Given the description of an element on the screen output the (x, y) to click on. 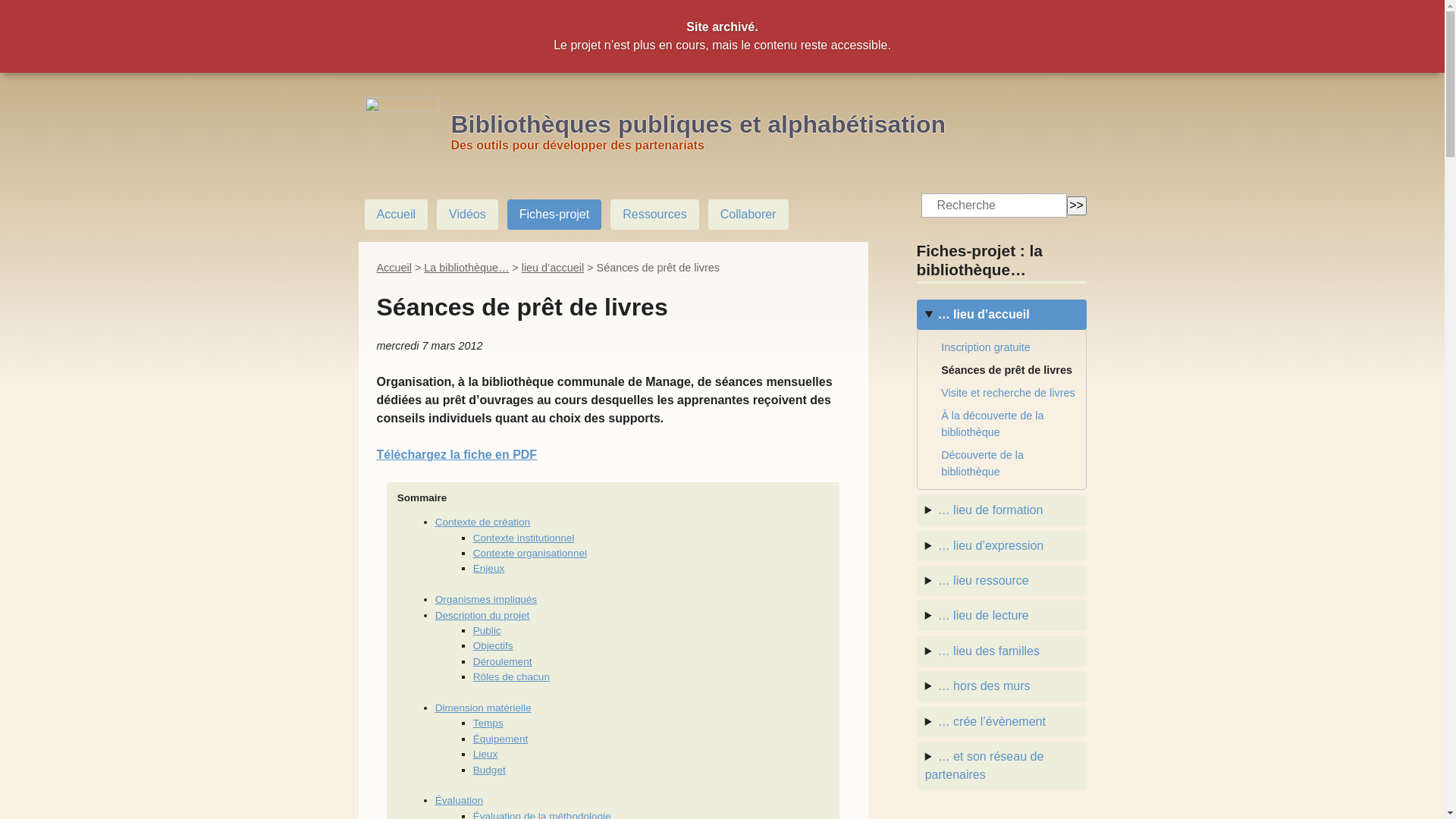
>> Element type: text (1076, 205)
Fiches-projet Element type: text (554, 214)
Contexte institutionnel Element type: text (523, 537)
Rechercher Element type: hover (1076, 205)
Recherche Element type: hover (993, 205)
Lieux Element type: text (485, 753)
Objectifs Element type: text (493, 645)
Temps Element type: text (488, 722)
Public Element type: text (487, 630)
Collaborer Element type: text (748, 214)
Inscription gratuite Element type: text (1008, 347)
Accueil Element type: text (395, 214)
Budget Element type: text (489, 769)
Ressources Element type: text (654, 214)
Enjeux Element type: text (489, 568)
Contexte organisationnel Element type: text (529, 552)
Accueil Element type: text (393, 267)
Visite et recherche de livres Element type: text (1008, 392)
Description du projet Element type: text (482, 615)
